Given the description of an element on the screen output the (x, y) to click on. 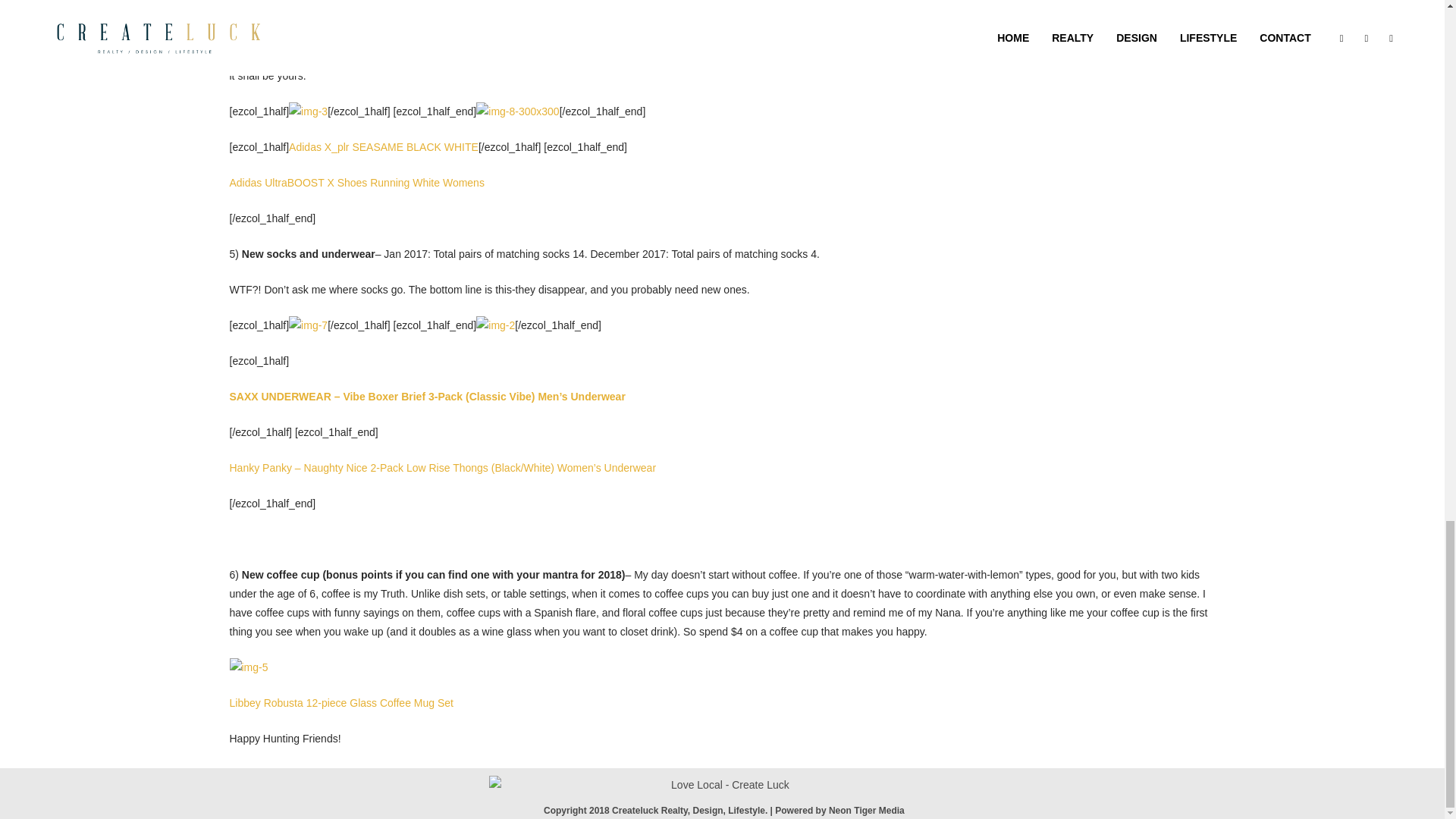
Adidas UltraBOOST X Shoes Running White Womens (355, 182)
